Given the description of an element on the screen output the (x, y) to click on. 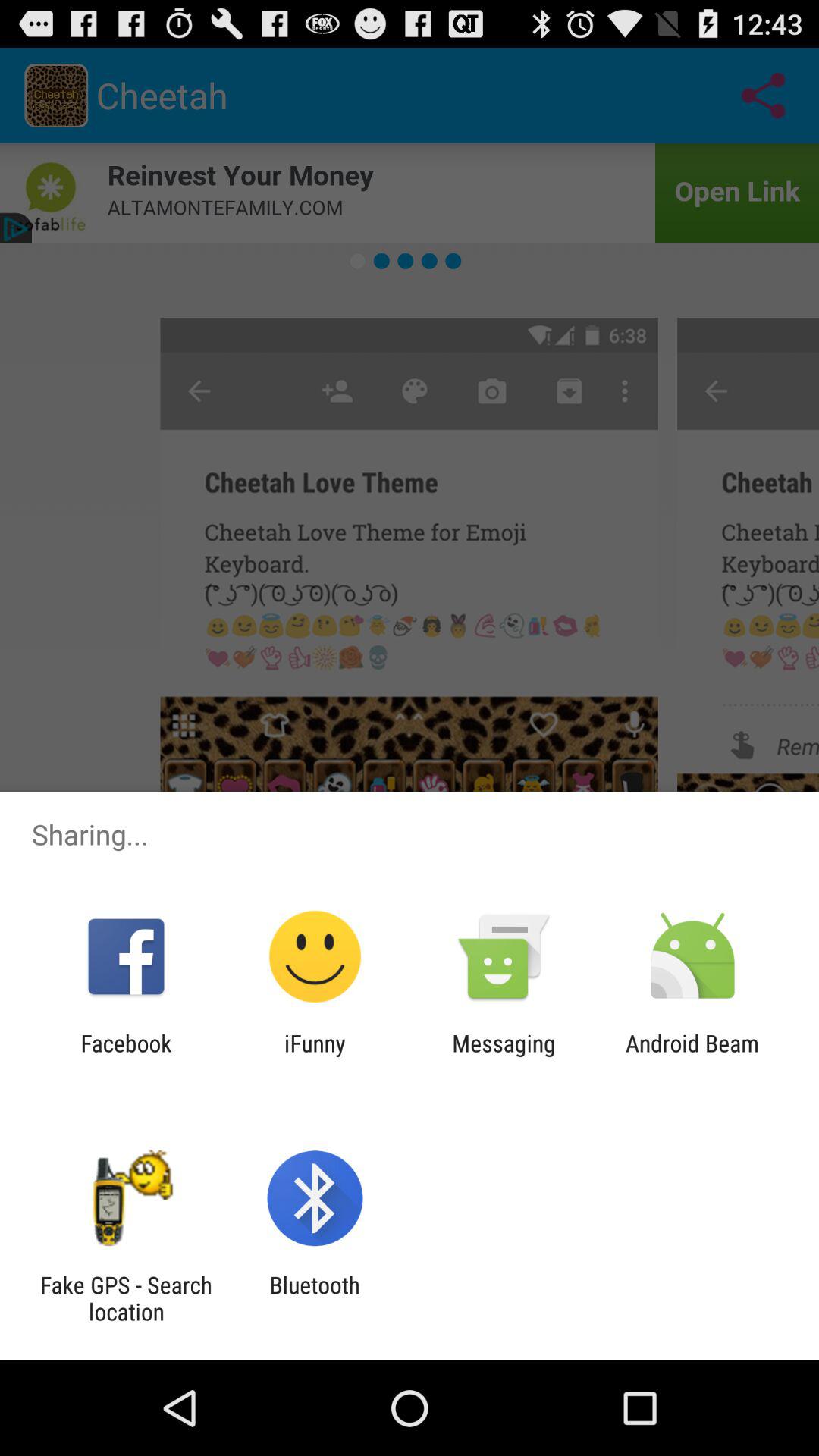
turn off android beam app (692, 1056)
